Given the description of an element on the screen output the (x, y) to click on. 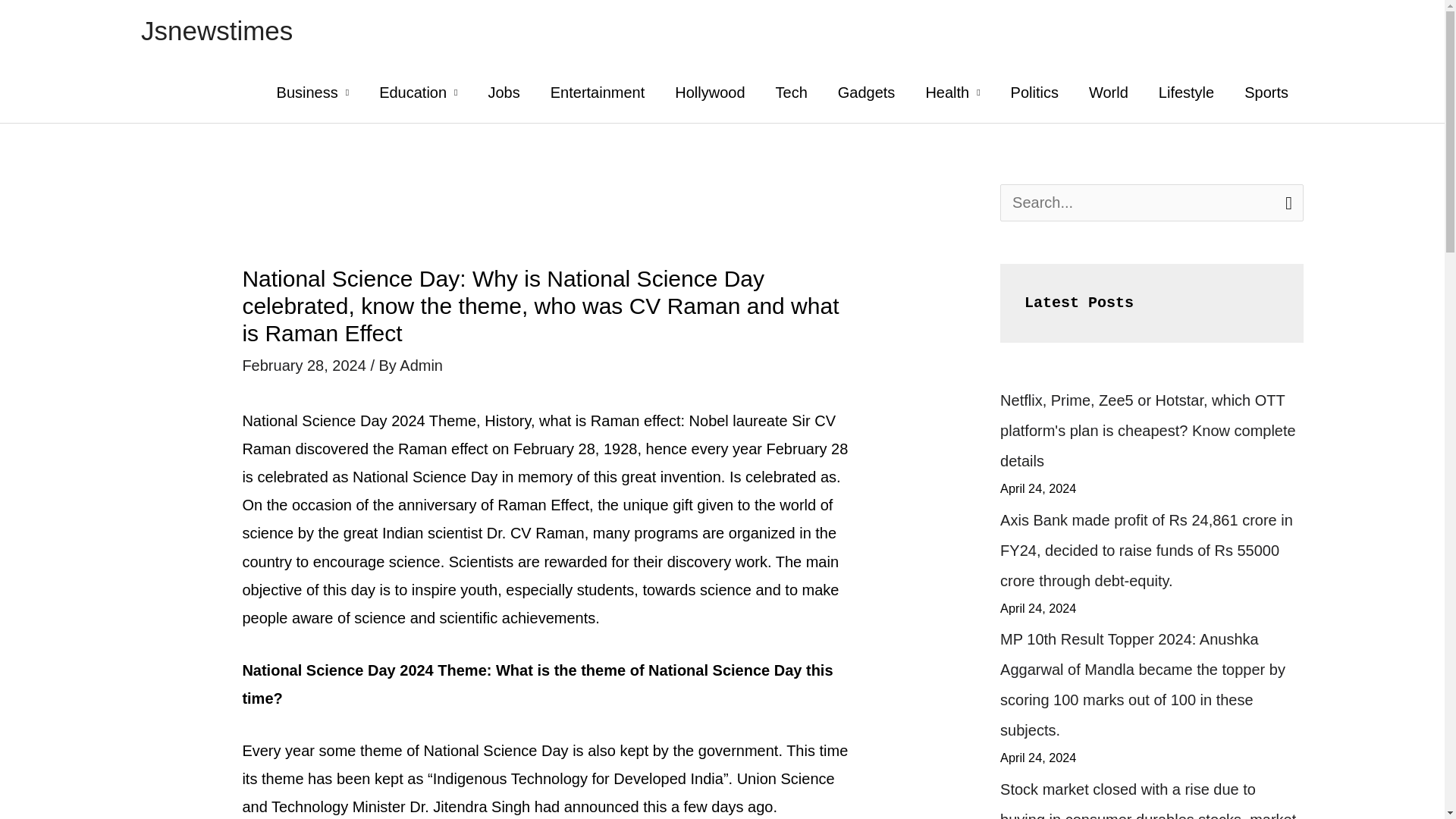
Hollywood (709, 92)
Lifestyle (1185, 92)
Search (1286, 201)
Admin (420, 365)
Gadgets (866, 92)
Education (417, 92)
Business (313, 92)
World (1108, 92)
Sports (1265, 92)
Tech (791, 92)
View all posts by Admin (420, 365)
Jsnewstimes (216, 30)
